Given the description of an element on the screen output the (x, y) to click on. 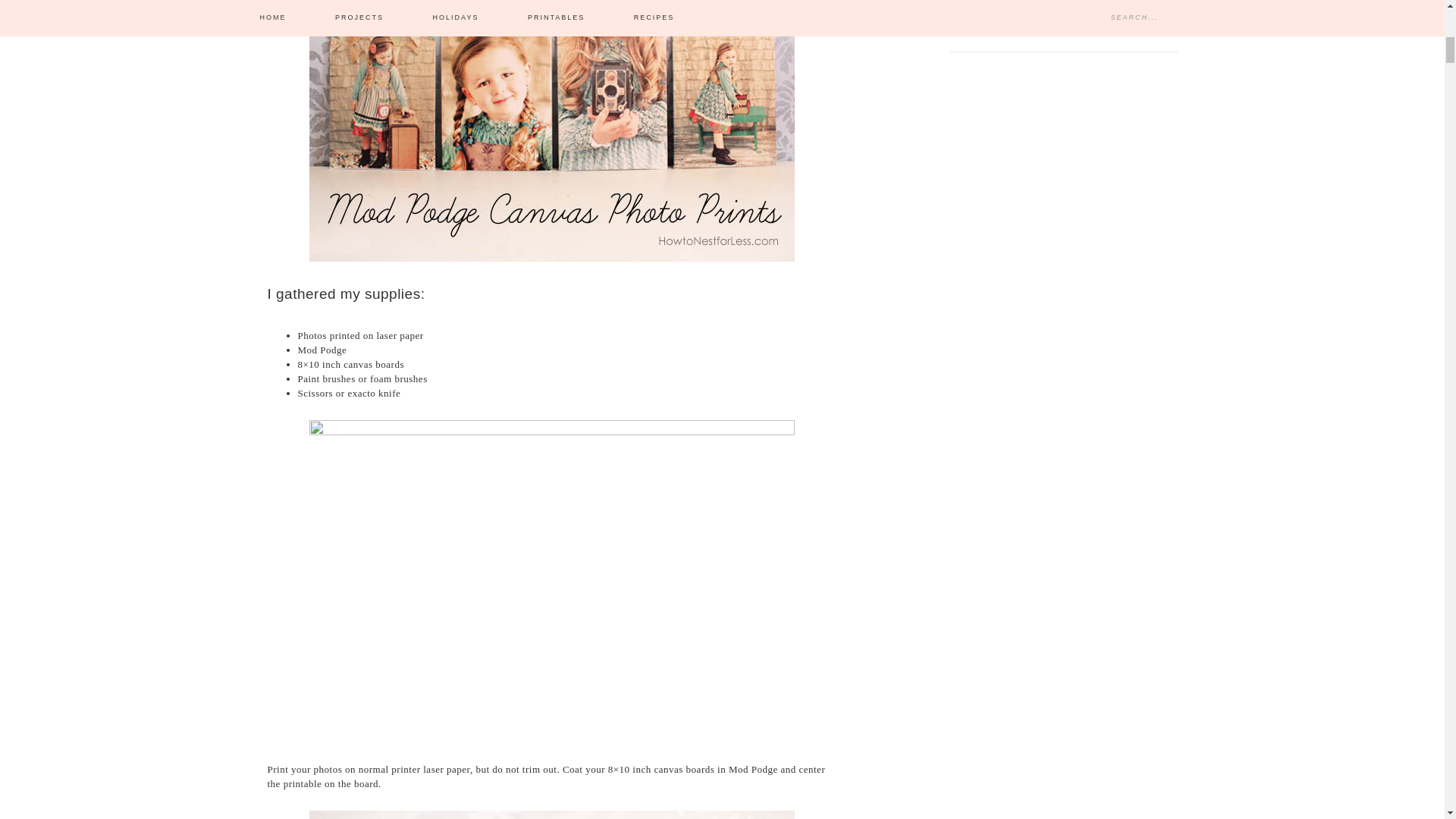
mod podge canvas photos (551, 814)
canvas photo mod podge prints (551, 130)
